Given the description of an element on the screen output the (x, y) to click on. 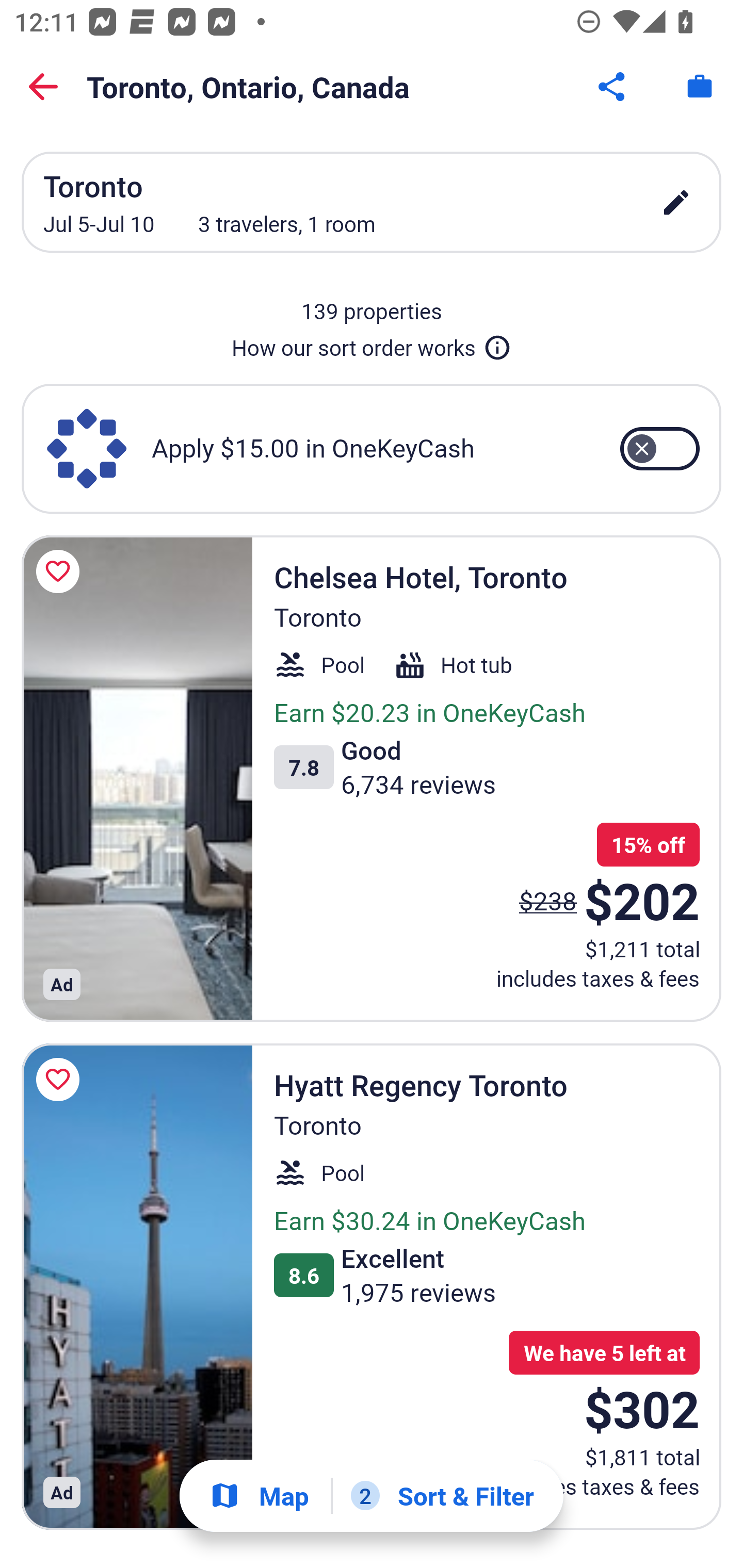
Back (43, 86)
Share Button (612, 86)
Trips. Button (699, 86)
Toronto Jul 5-Jul 10 3 travelers, 1 room edit (371, 202)
How our sort order works (371, 344)
Save Chelsea Hotel, Toronto to a trip (61, 571)
Chelsea Hotel, Toronto (136, 778)
$238 The price was $238 (547, 900)
Save Hyatt Regency Toronto to a trip (61, 1079)
Hyatt Regency Toronto (136, 1286)
2 Sort & Filter 2 Filters applied. Filters Button (442, 1495)
Show map Map Show map Button (258, 1495)
